Given the description of an element on the screen output the (x, y) to click on. 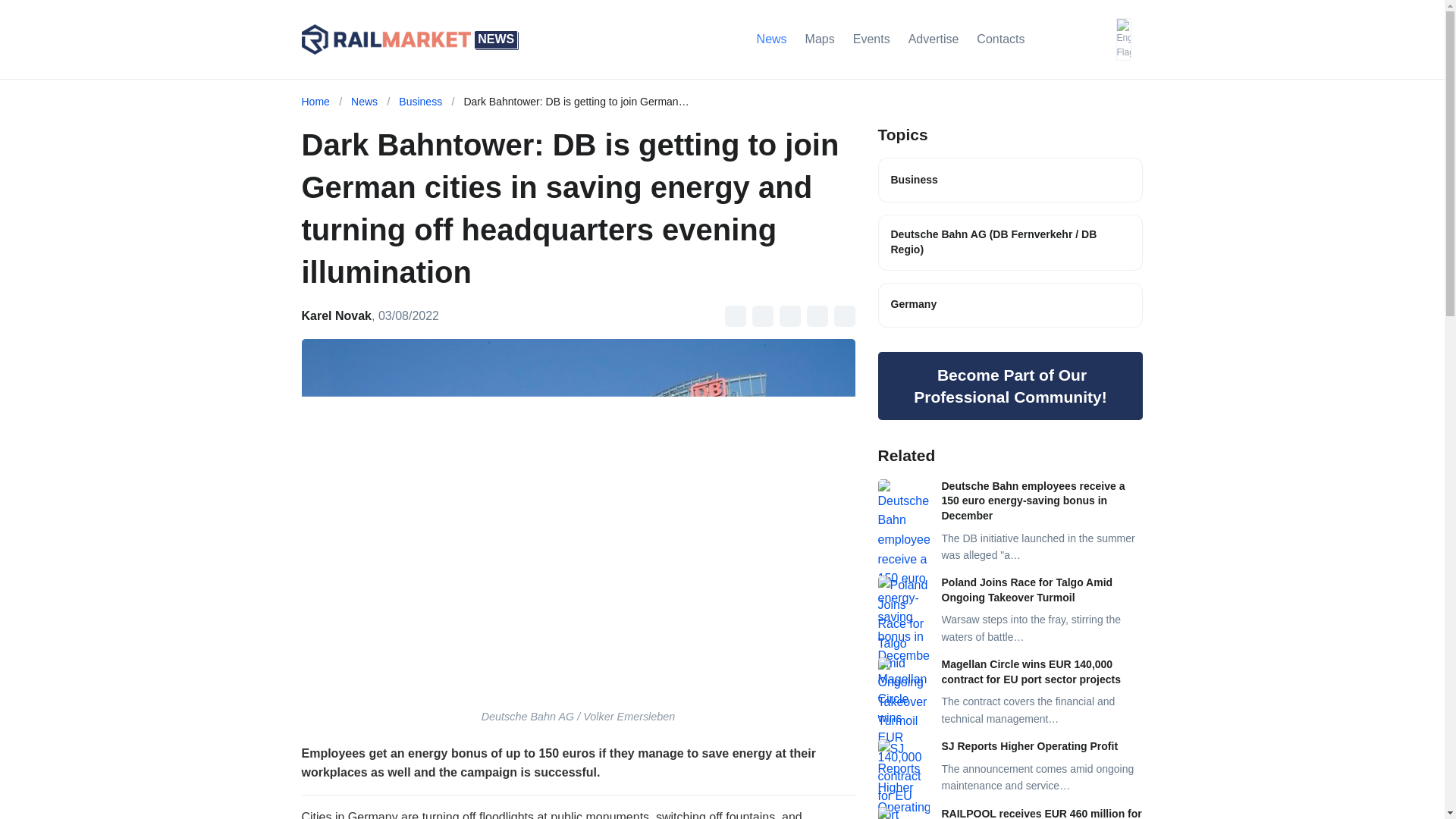
Share via E-mail (735, 315)
Karel Novak (336, 315)
Germany (1009, 304)
Whatsapp (845, 315)
Business (420, 101)
Facebook (762, 315)
Linkedin (817, 315)
Home (315, 101)
Advertise (933, 39)
NEWS (409, 39)
News (363, 101)
Become Part of Our Professional Community! (1010, 385)
Back to Home (409, 39)
Events (871, 39)
Business (1009, 180)
